Given the description of an element on the screen output the (x, y) to click on. 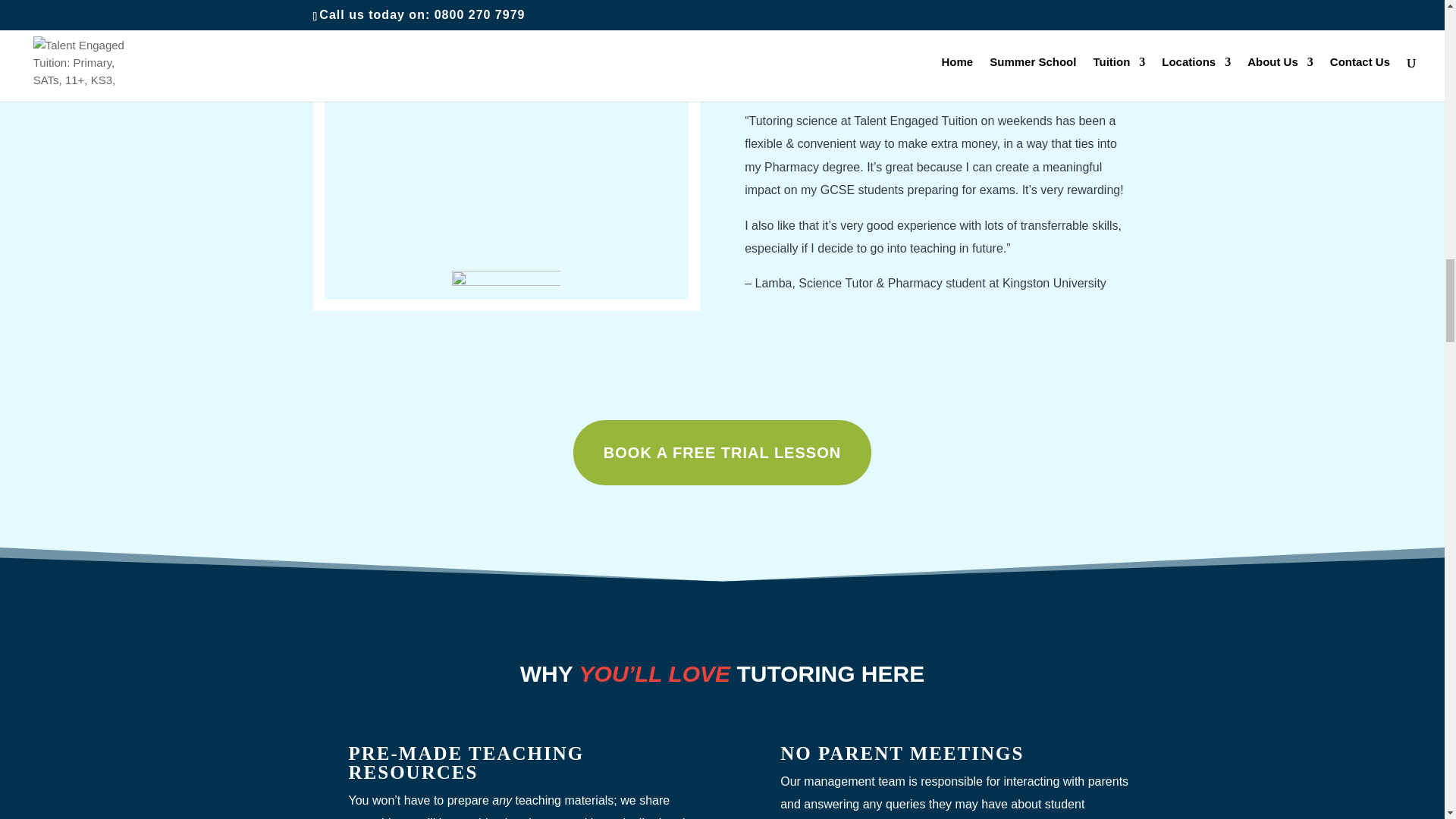
BOOK A FREE TRIAL LESSON (721, 452)
